Given the description of an element on the screen output the (x, y) to click on. 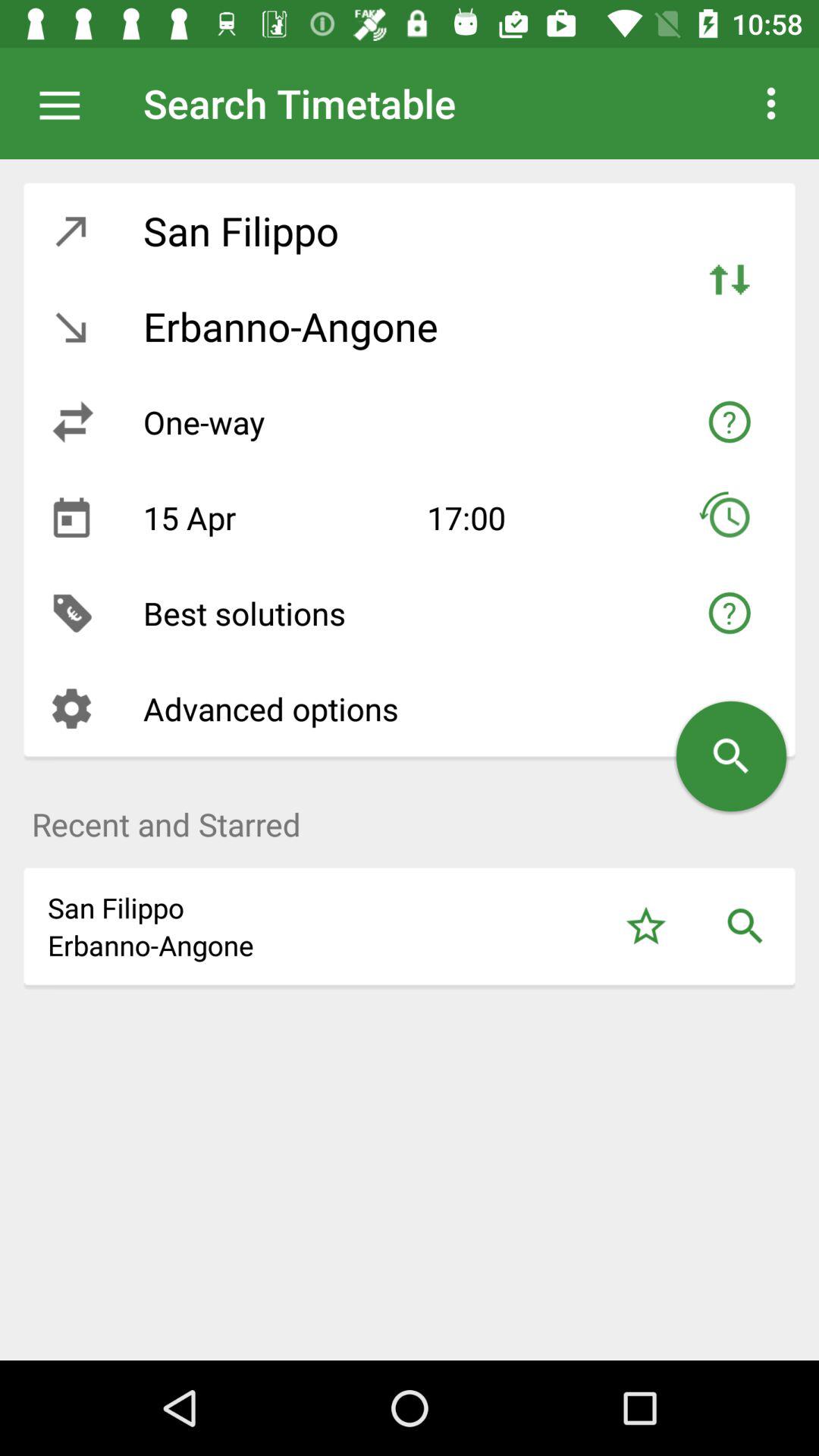
open the 15 apr (273, 517)
